Given the description of an element on the screen output the (x, y) to click on. 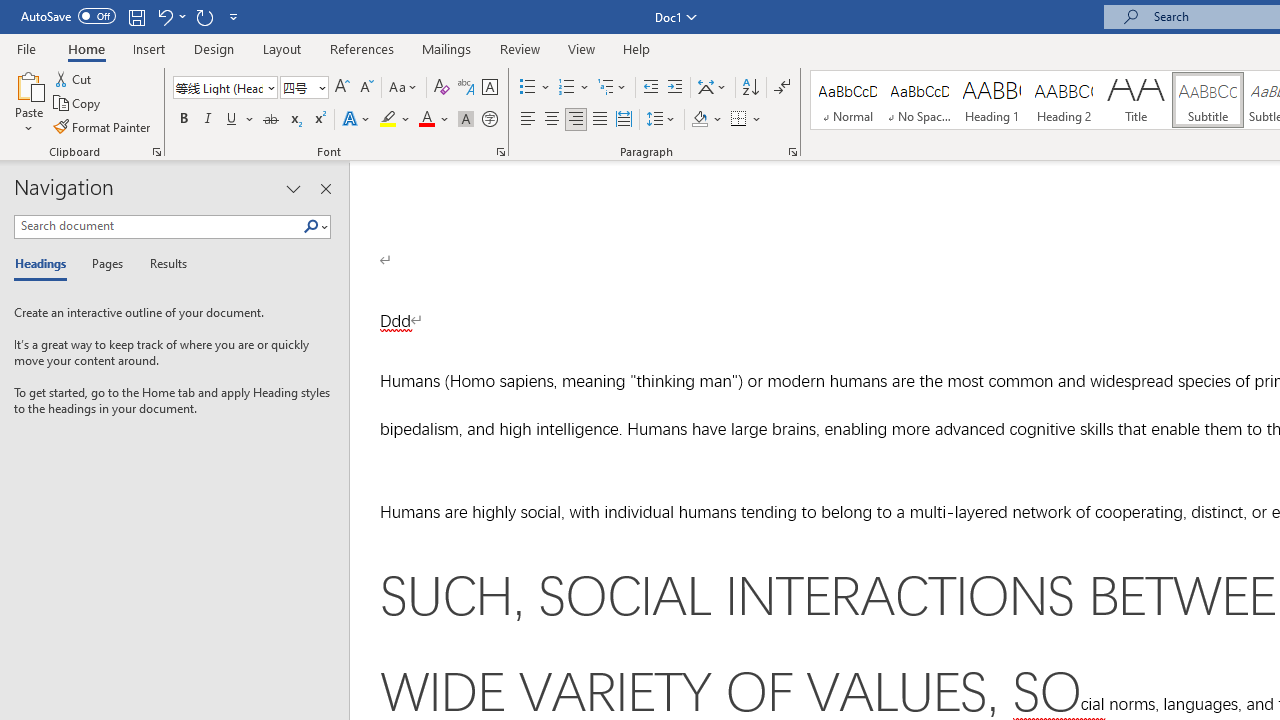
Enclose Characters... (489, 119)
Superscript (319, 119)
Task Pane Options (293, 188)
Subtitle (1208, 100)
Heading 1 (991, 100)
Bold (183, 119)
Decrease Indent (650, 87)
Shading RGB(0, 0, 0) (699, 119)
Cut (73, 78)
Pages (105, 264)
Shrink Font (365, 87)
Undo Paragraph Alignment (164, 15)
